Given the description of an element on the screen output the (x, y) to click on. 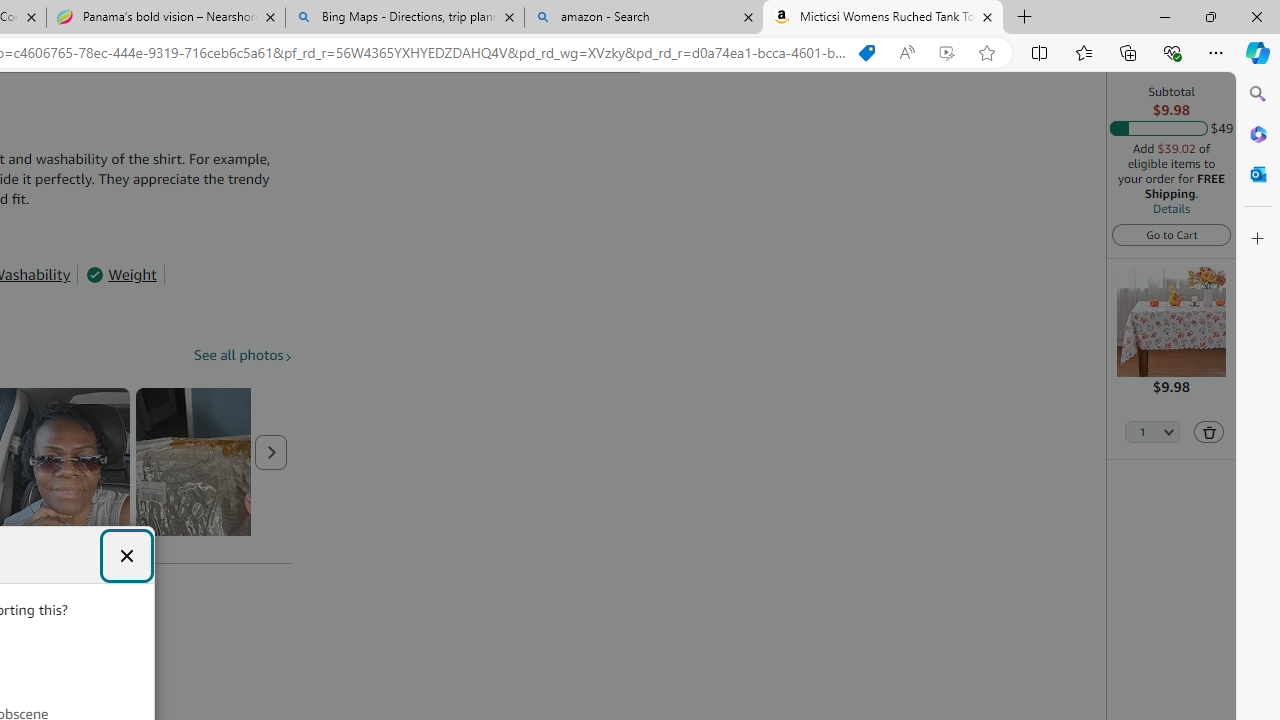
Enhance video (946, 53)
See all photos (243, 355)
amazon - Search (643, 17)
